Given the description of an element on the screen output the (x, y) to click on. 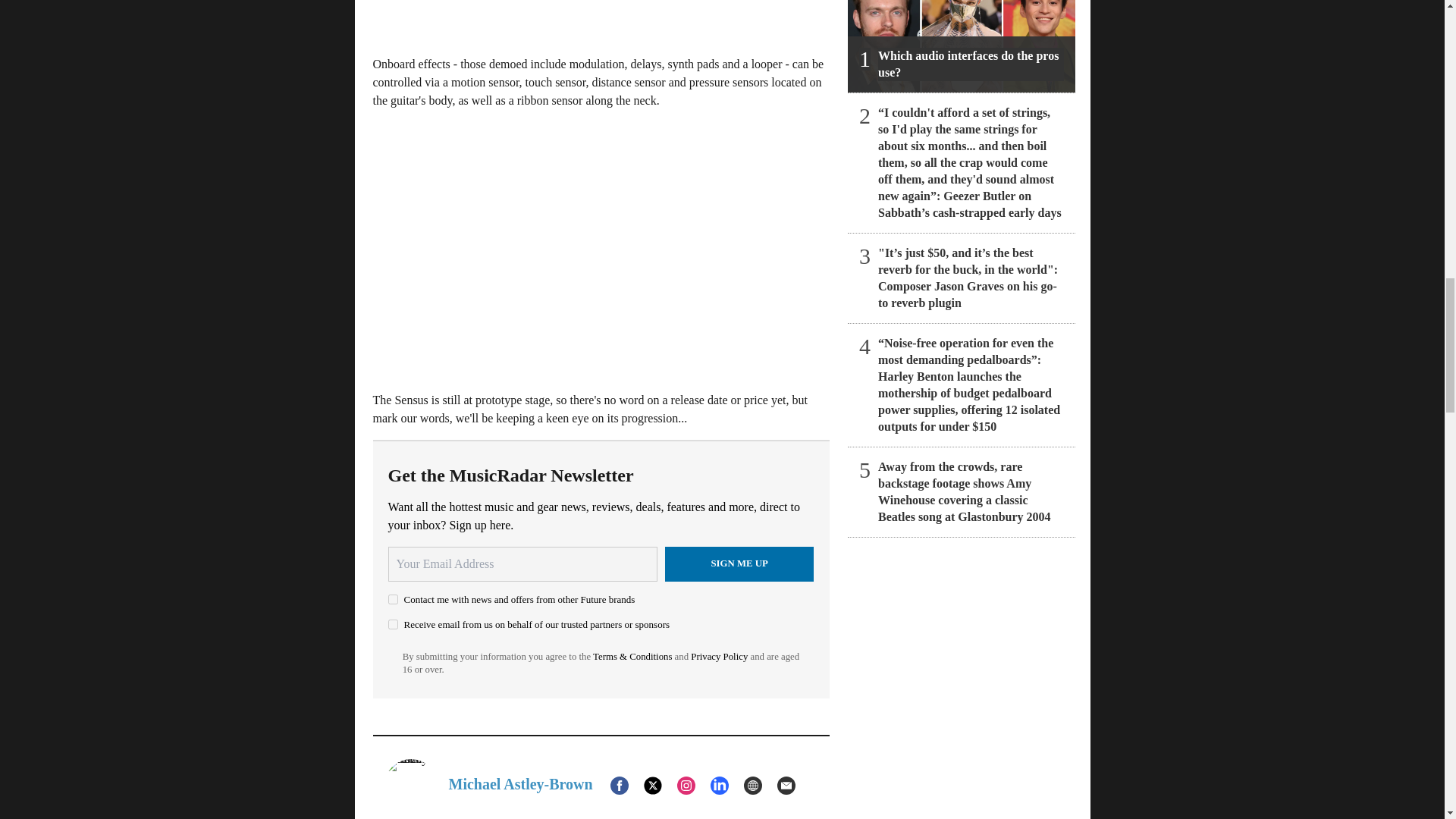
Sign me up (739, 563)
on (392, 599)
on (392, 624)
